Given the description of an element on the screen output the (x, y) to click on. 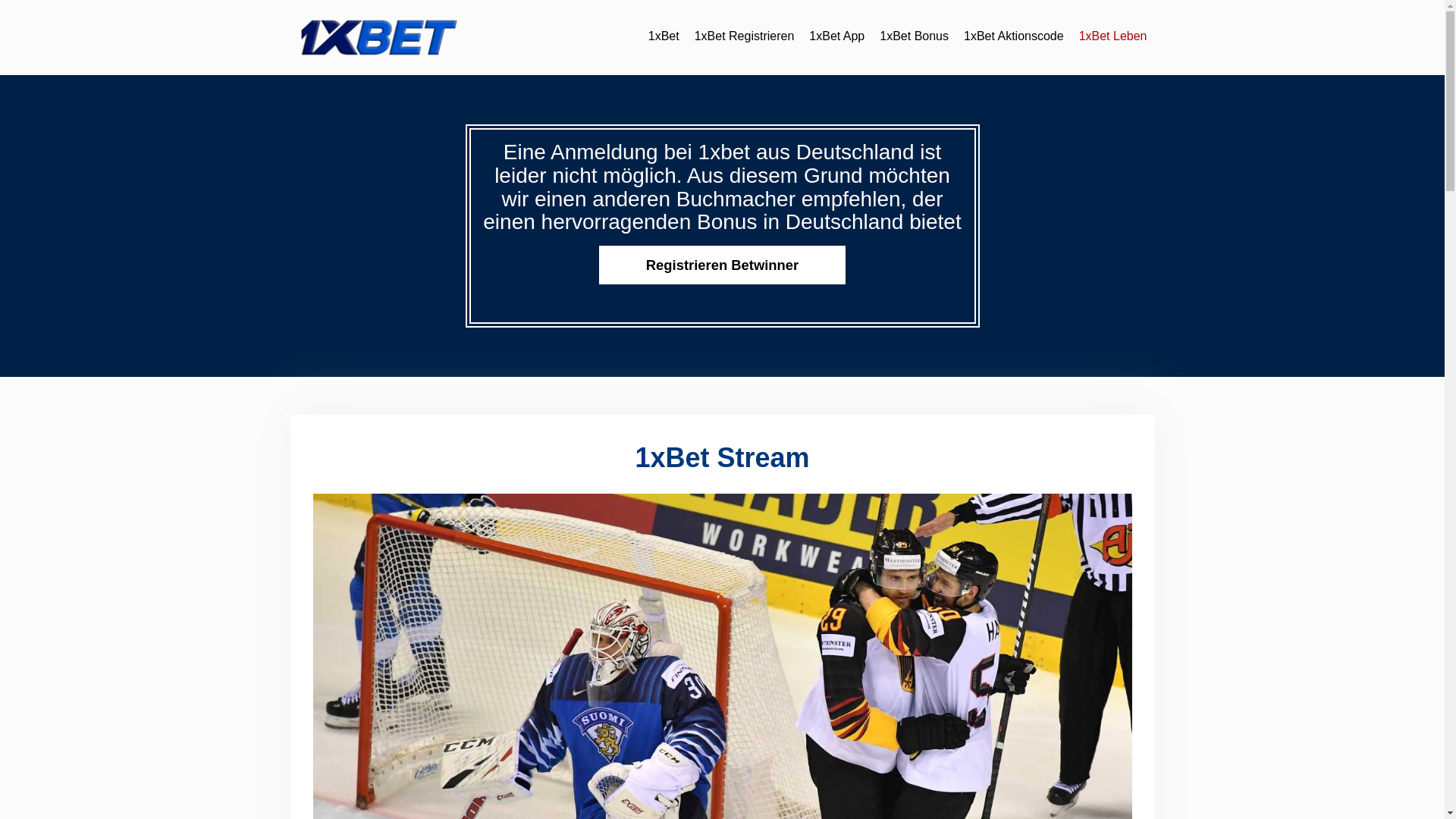
Registrieren Betwinner Element type: text (722, 264)
1xBet Bonus Element type: text (914, 35)
1xBet Registrieren Element type: text (744, 35)
1xBet Element type: text (663, 35)
1xBet Aktionscode Element type: text (1013, 35)
1xBet App Element type: text (836, 35)
Skip to content Element type: text (0, 0)
1xBet Leben Element type: text (1112, 35)
